Given the description of an element on the screen output the (x, y) to click on. 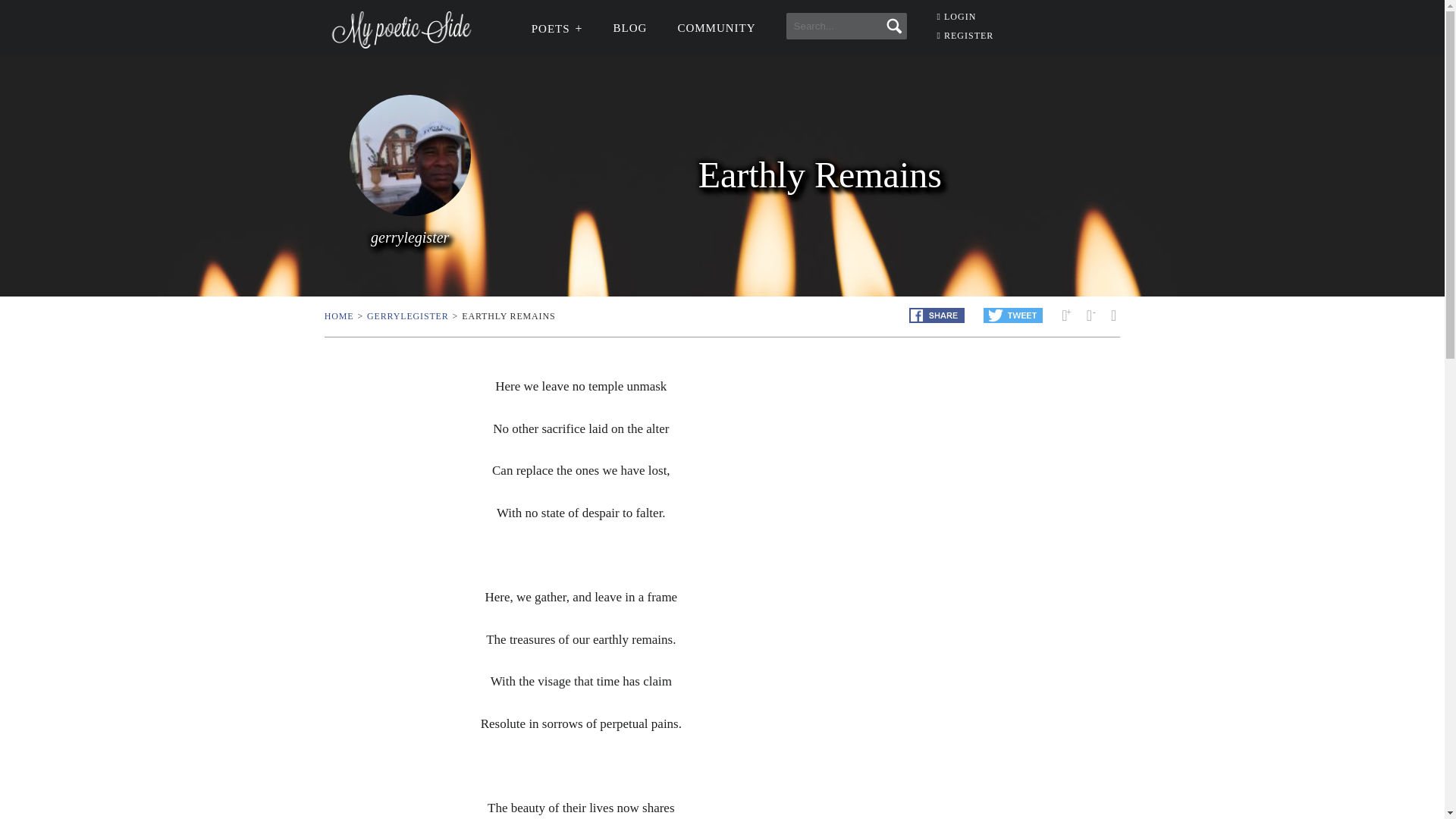
 LOGIN (956, 16)
 REGISTER (965, 35)
